Given the description of an element on the screen output the (x, y) to click on. 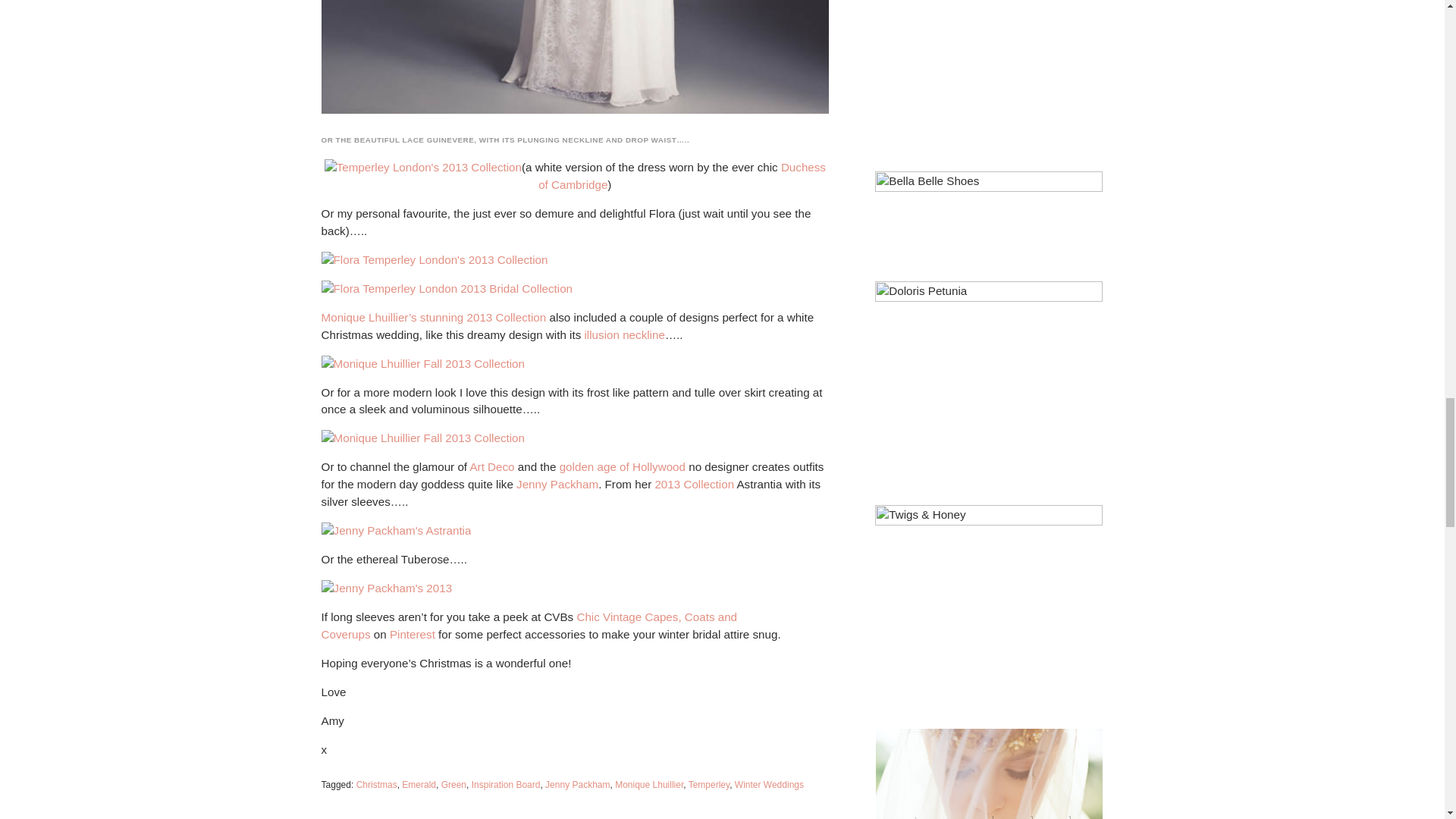
Flora Temperley London 2013 Bridal Collection (446, 289)
Viva from Temperley London's 2013 Collection (574, 57)
Flora Temperley London's 2013 Collection (434, 260)
Temperley London's 2013 Collection (422, 167)
Magical Illusion Necklines (623, 334)
